Given the description of an element on the screen output the (x, y) to click on. 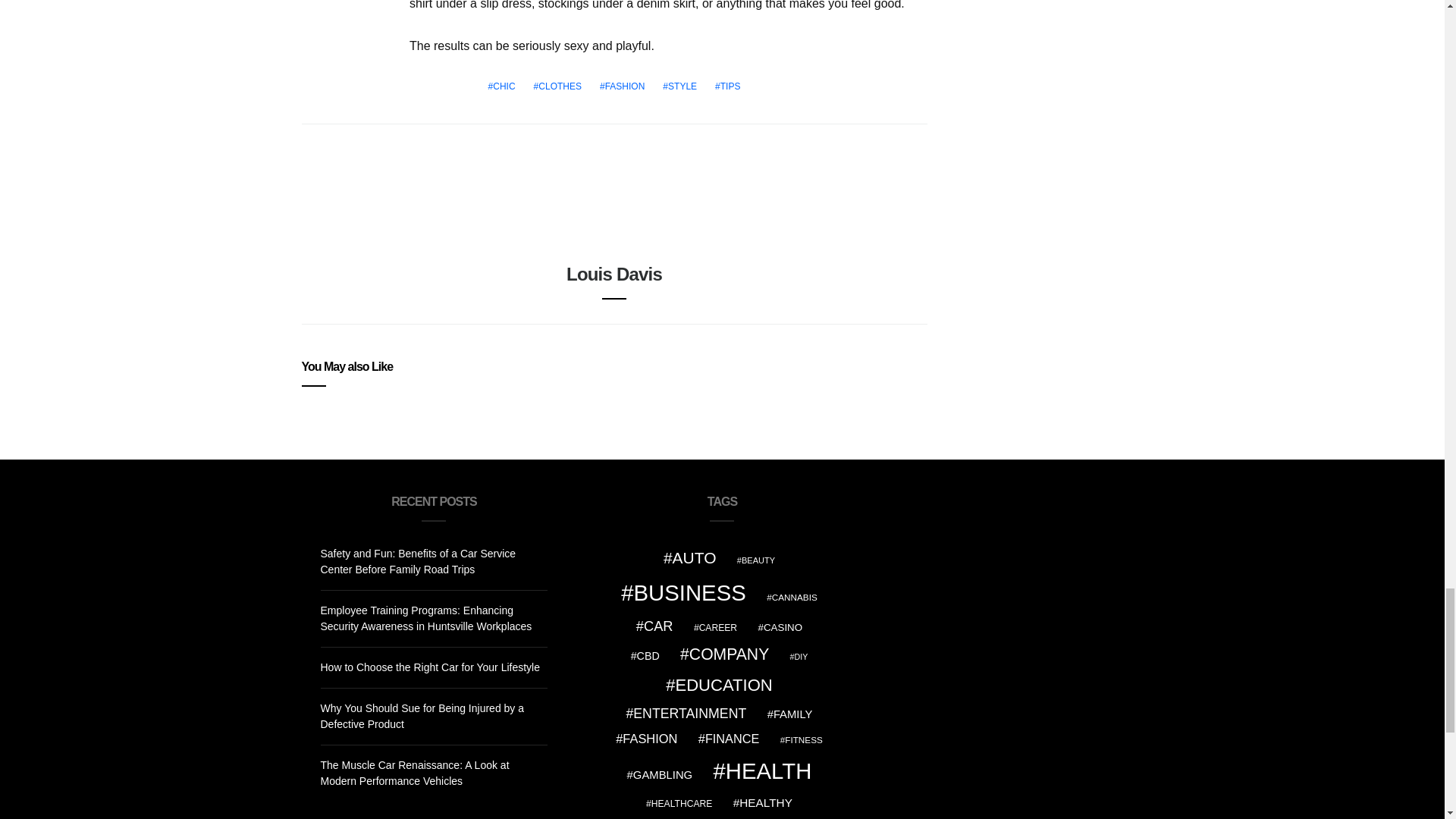
Posts by Louis Davis (614, 273)
CHIC (501, 86)
